Given the description of an element on the screen output the (x, y) to click on. 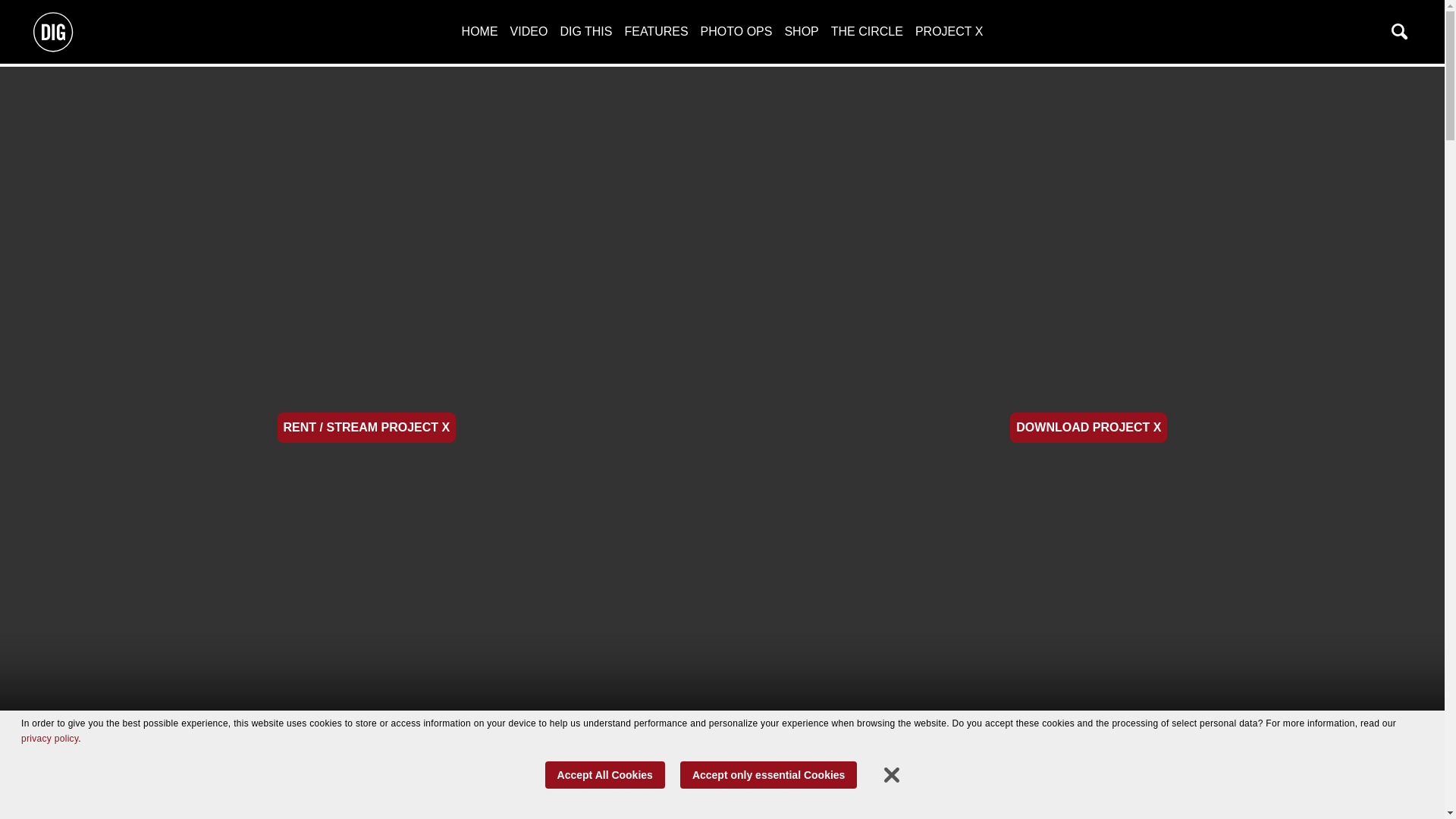
FEATURES (655, 31)
PHOTO OPS (736, 31)
THE CIRCLE (866, 31)
DIG THIS (585, 31)
DOWNLOAD PROJECT X (1088, 427)
HOME (479, 31)
SHOP (800, 31)
VIDEO (528, 31)
PROJECT X (949, 31)
